Given the description of an element on the screen output the (x, y) to click on. 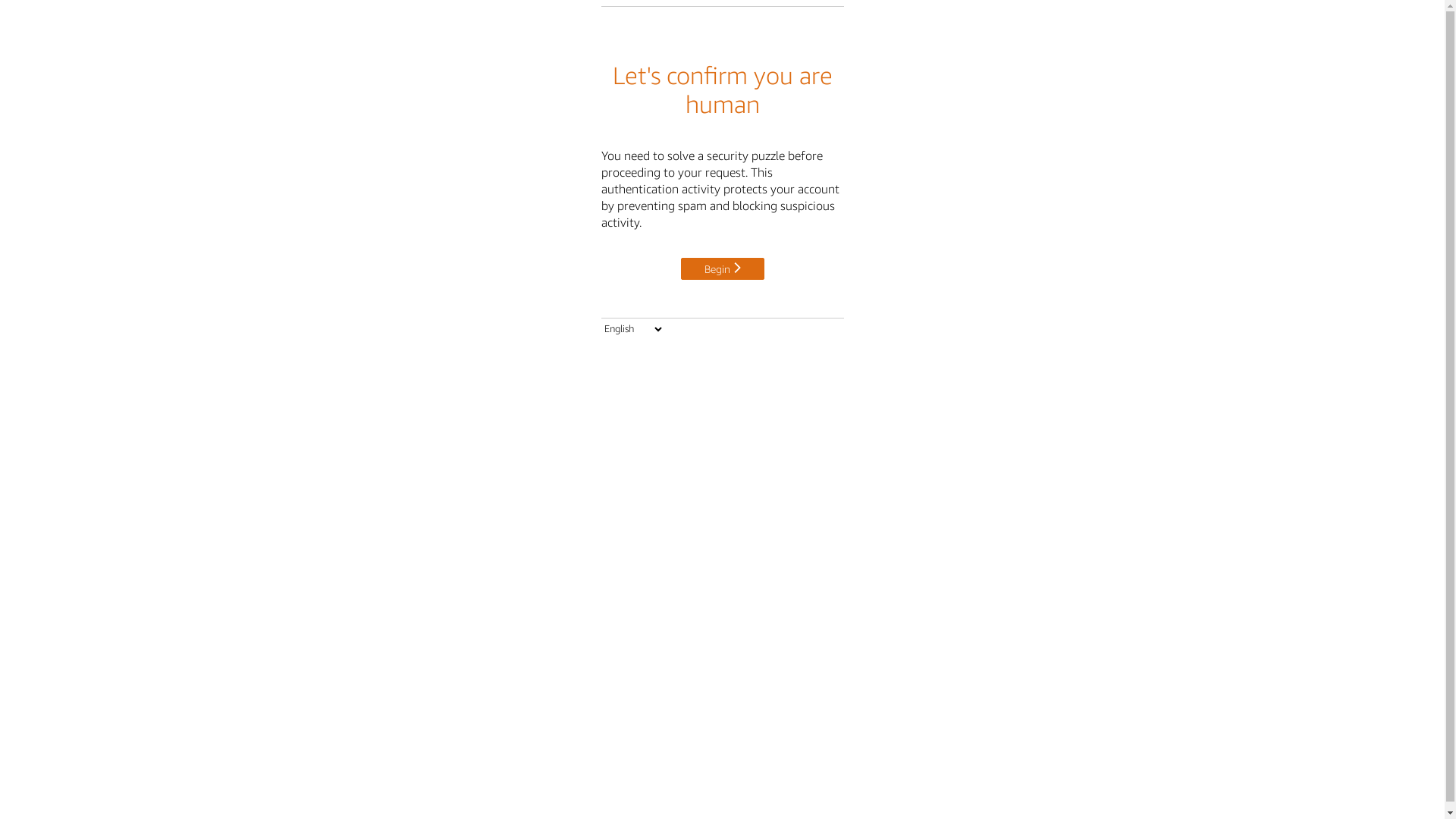
Begin Element type: text (722, 266)
